Given the description of an element on the screen output the (x, y) to click on. 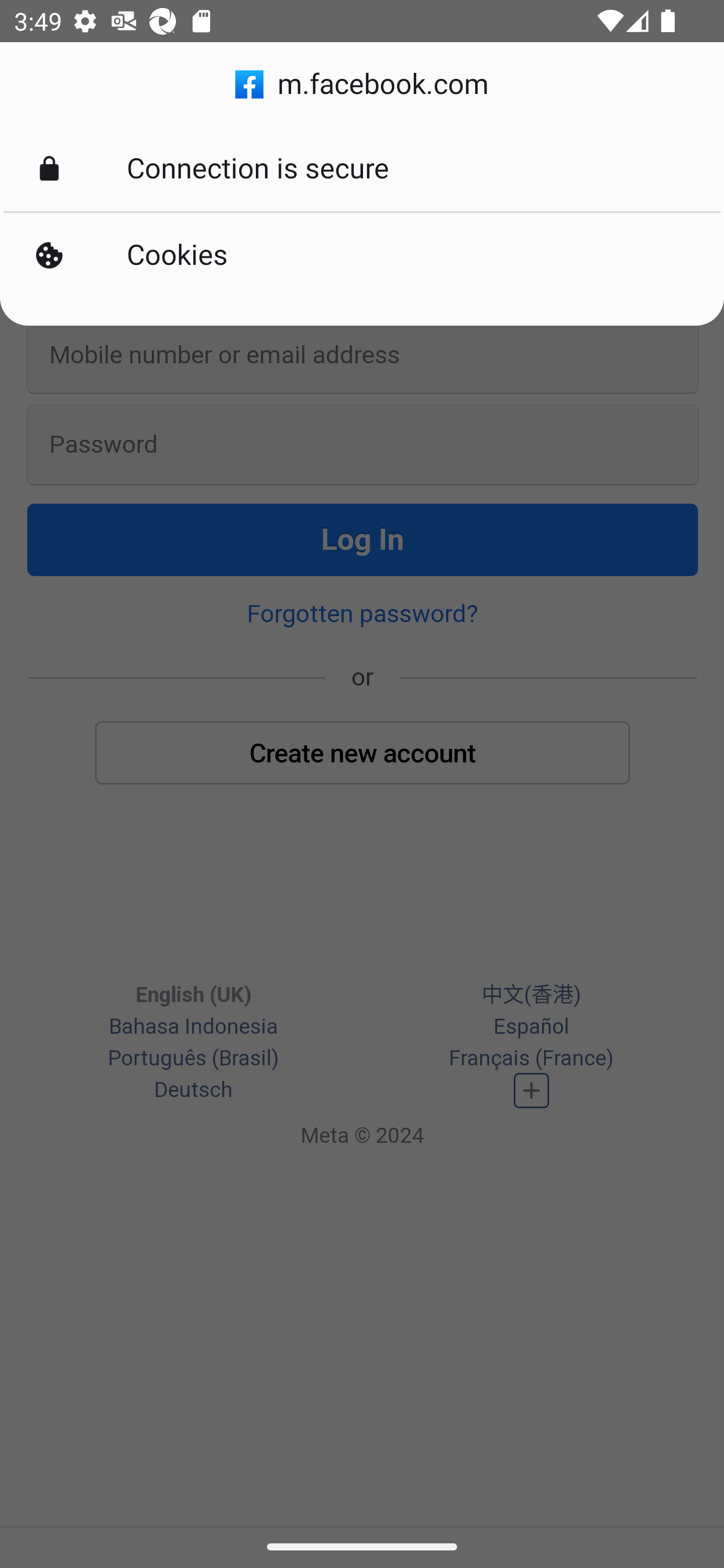
m.facebook.com (362, 84)
Connection is secure (362, 169)
Cookies (362, 255)
